Given the description of an element on the screen output the (x, y) to click on. 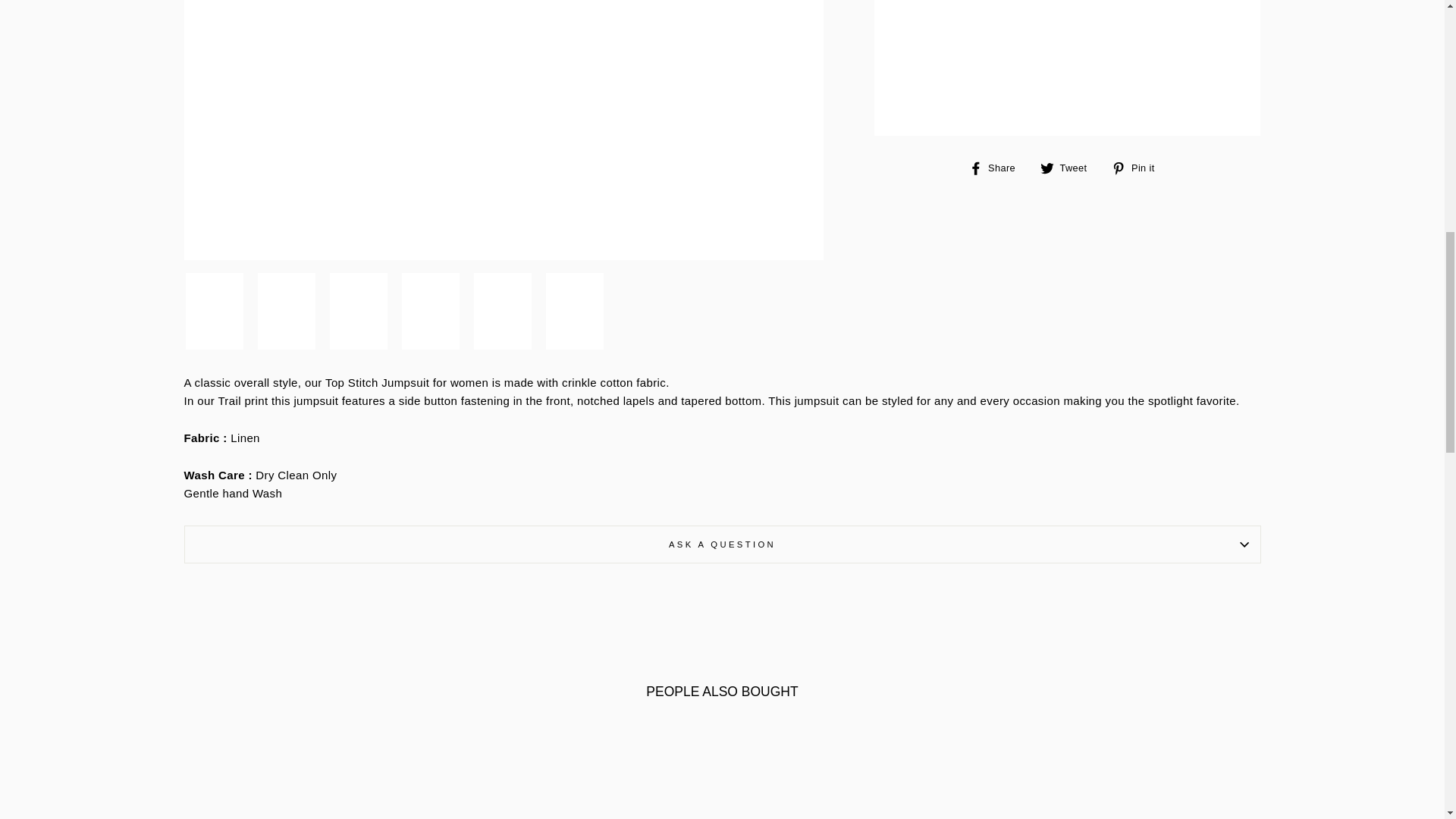
Tweet on Twitter (1069, 167)
Pin on Pinterest (1139, 167)
Share on Facebook (997, 167)
